Given the description of an element on the screen output the (x, y) to click on. 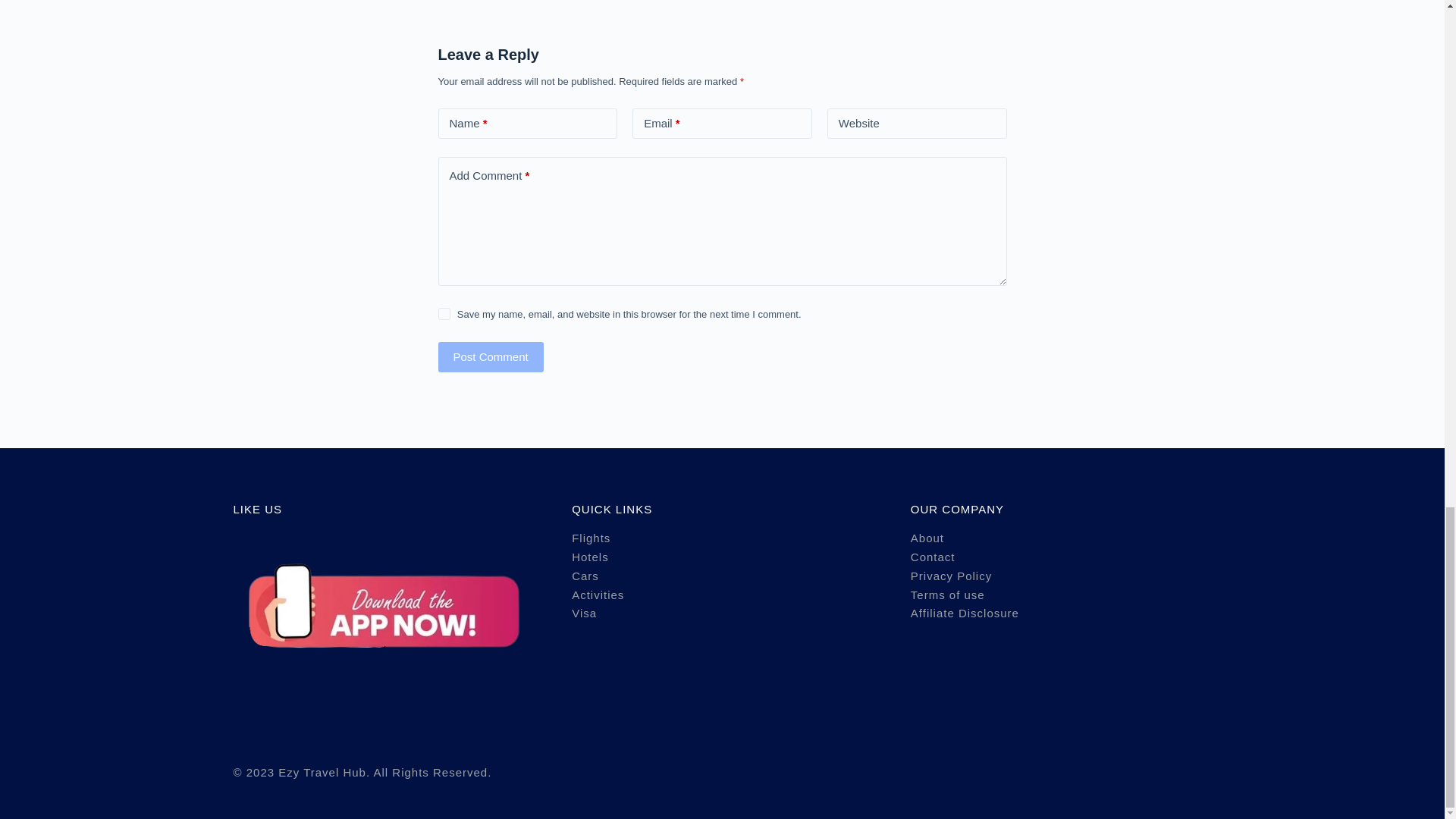
yes (443, 313)
